Given the description of an element on the screen output the (x, y) to click on. 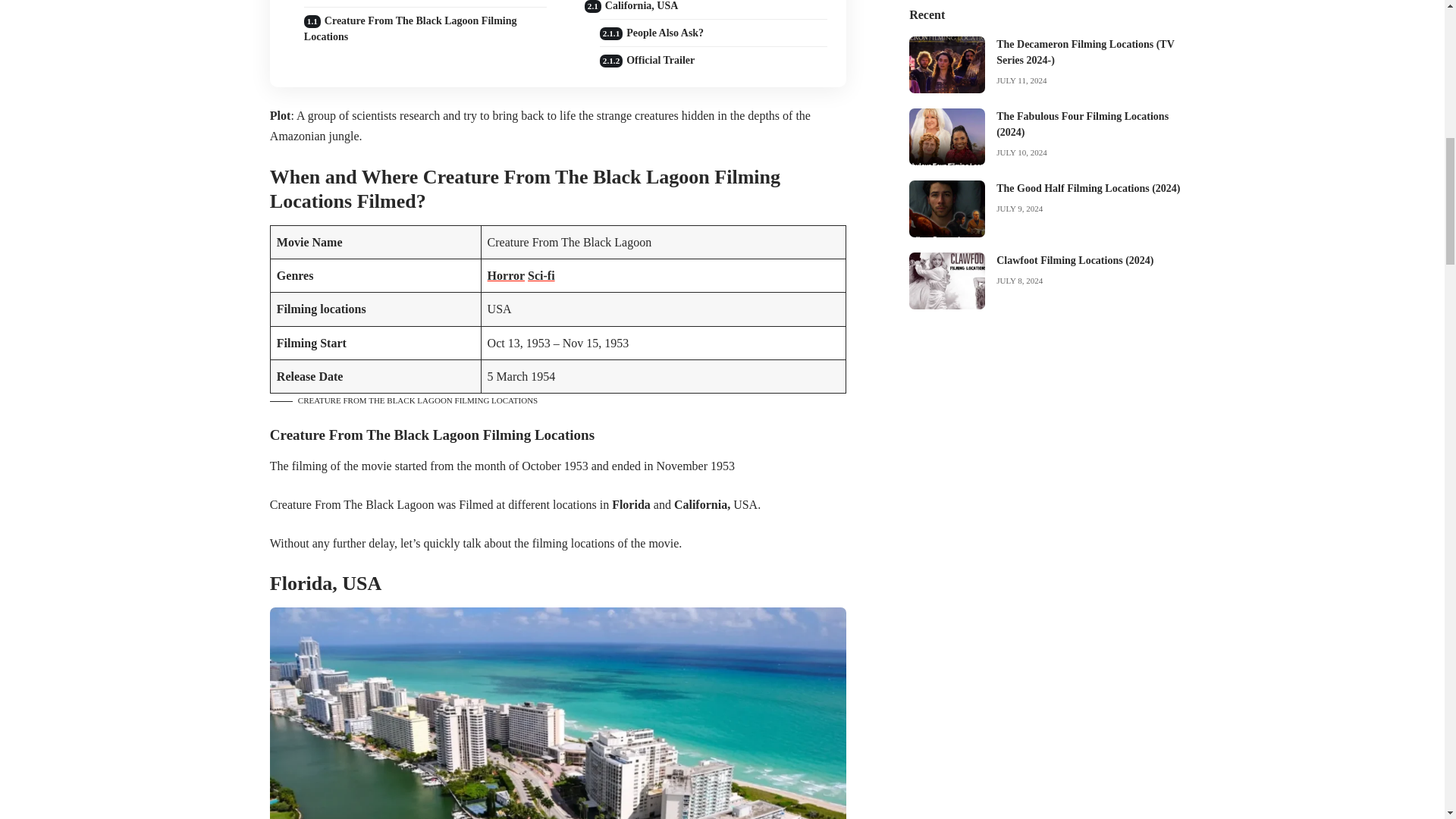
Creature From The Black Lagoon Filming Locations 2 (557, 713)
